Given the description of an element on the screen output the (x, y) to click on. 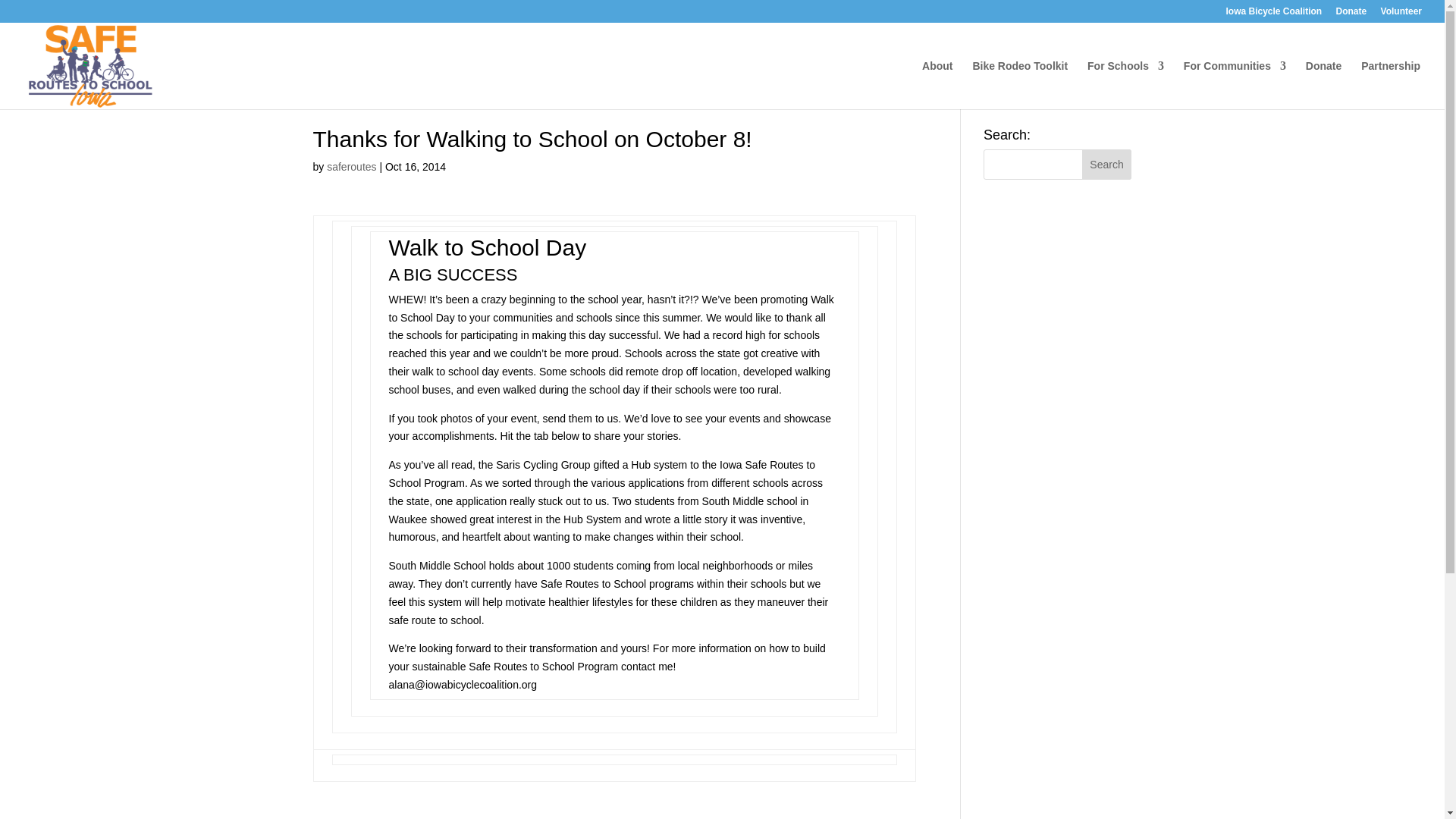
Posts by saferoutes (350, 166)
saferoutes (350, 166)
Volunteer (1401, 14)
Bike Rodeo Toolkit (1019, 84)
For Schools (1125, 84)
Search (1106, 164)
For Communities (1234, 84)
Donate (1351, 14)
Partnership (1391, 84)
Iowa Bicycle Coalition (1273, 14)
